Given the description of an element on the screen output the (x, y) to click on. 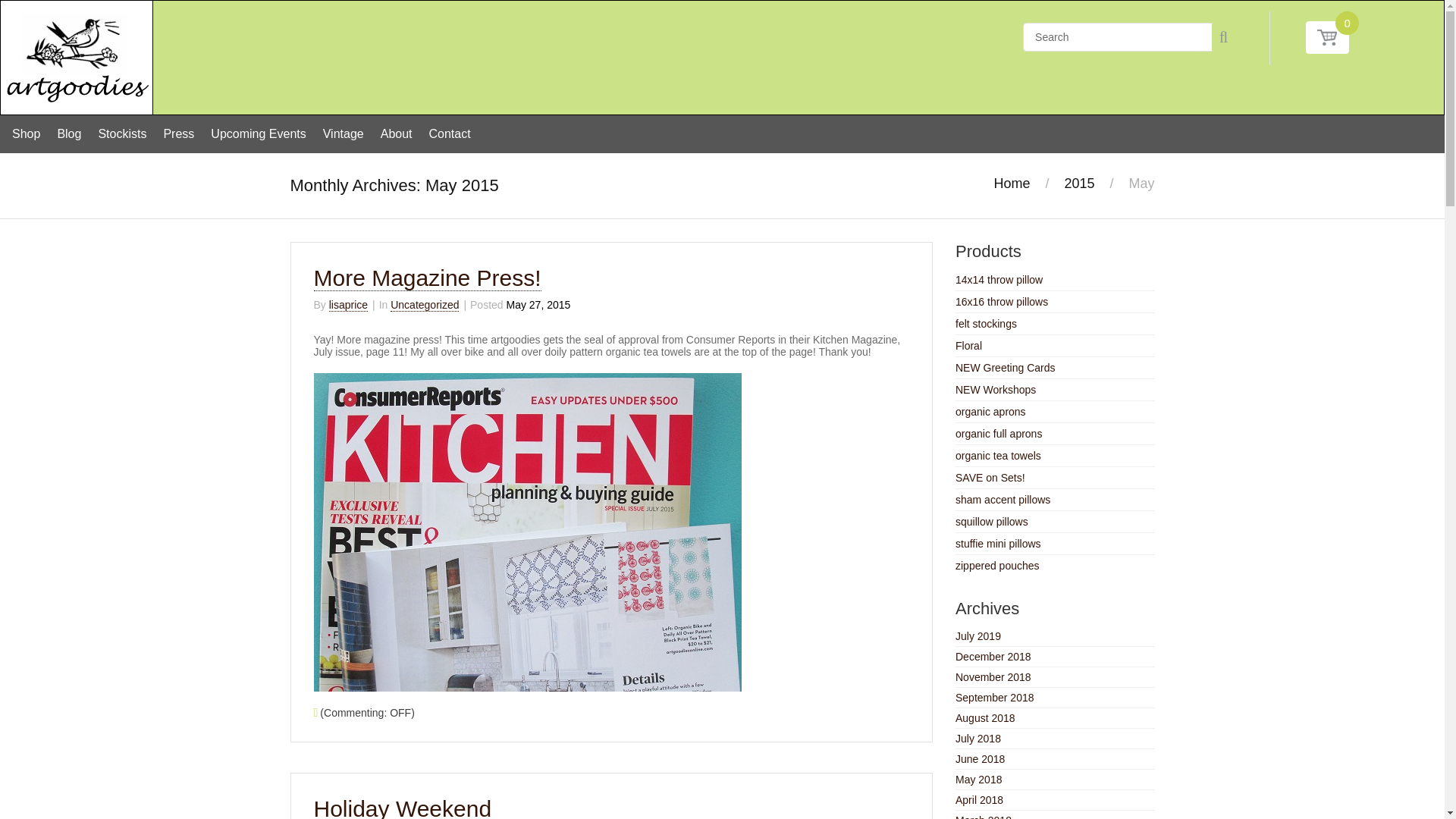
Press (178, 134)
Shop (26, 134)
14x14 throw pillow (998, 279)
Contact (450, 134)
Holiday Weekend (403, 807)
View all posts by lisaprice (348, 305)
artgoodies (76, 56)
Home (1010, 183)
Uncategorized (424, 305)
Blog (68, 134)
